Given the description of an element on the screen output the (x, y) to click on. 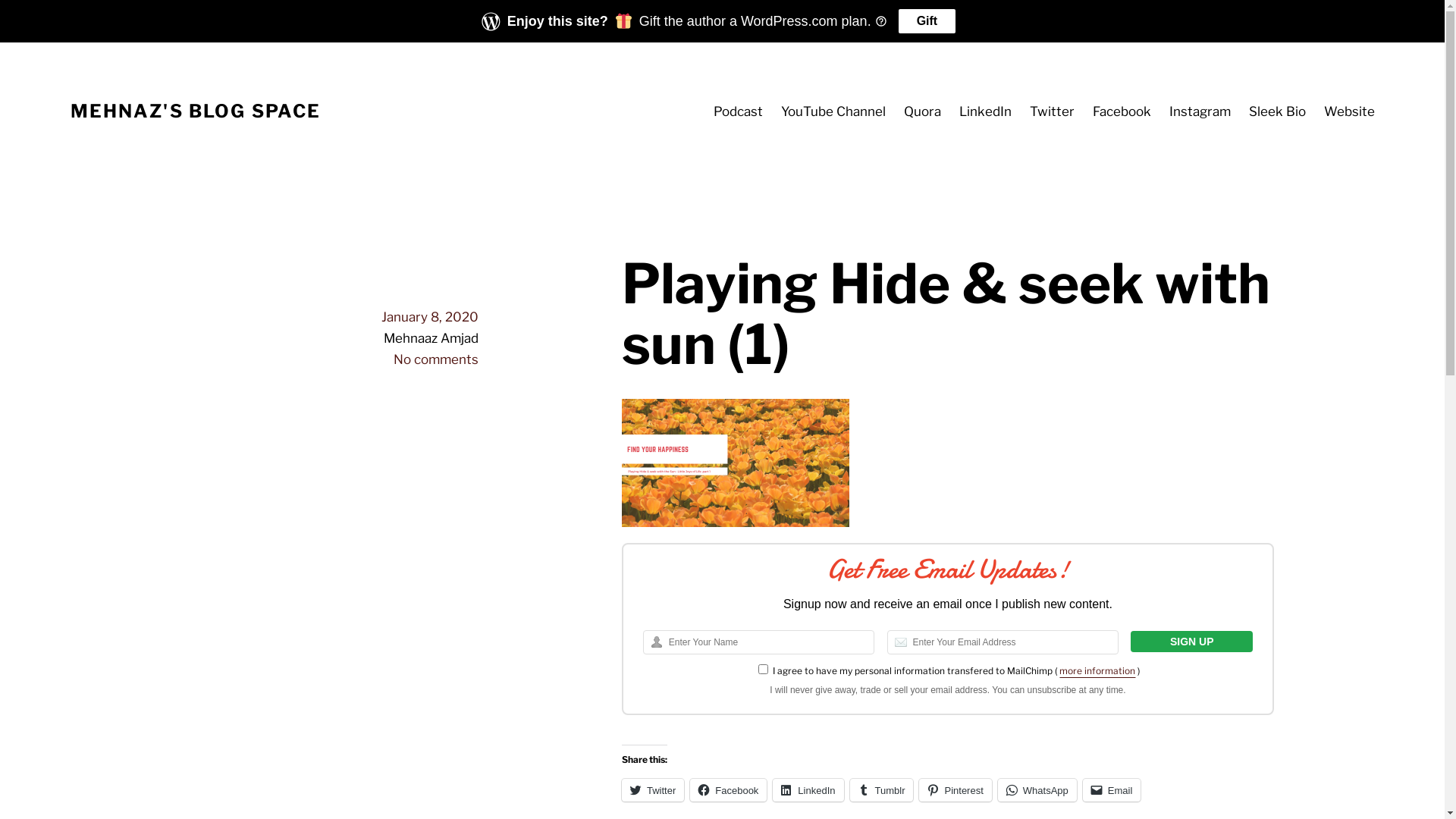
Instagram Element type: text (1199, 111)
January 8, 2020 Element type: text (429, 316)
Website Element type: text (1349, 111)
Facebook Element type: text (1121, 111)
Twitter Element type: text (1051, 111)
SIGN UP Element type: text (1191, 641)
Quora Element type: text (922, 111)
LinkedIn Element type: text (807, 789)
MEHNAZ'S BLOG SPACE Element type: text (194, 111)
Gift Element type: text (927, 21)
more information Element type: text (1097, 670)
No comments
on Playing Hide & seek with sun (1) Element type: text (435, 359)
Email Element type: text (1111, 789)
Twitter Element type: text (652, 789)
Tumblr Element type: text (881, 789)
Podcast Element type: text (737, 111)
Facebook Element type: text (728, 789)
YouTube Channel Element type: text (833, 111)
Pinterest Element type: text (955, 789)
WhatsApp Element type: text (1036, 789)
Sleek Bio Element type: text (1276, 111)
LinkedIn Element type: text (985, 111)
